Given the description of an element on the screen output the (x, y) to click on. 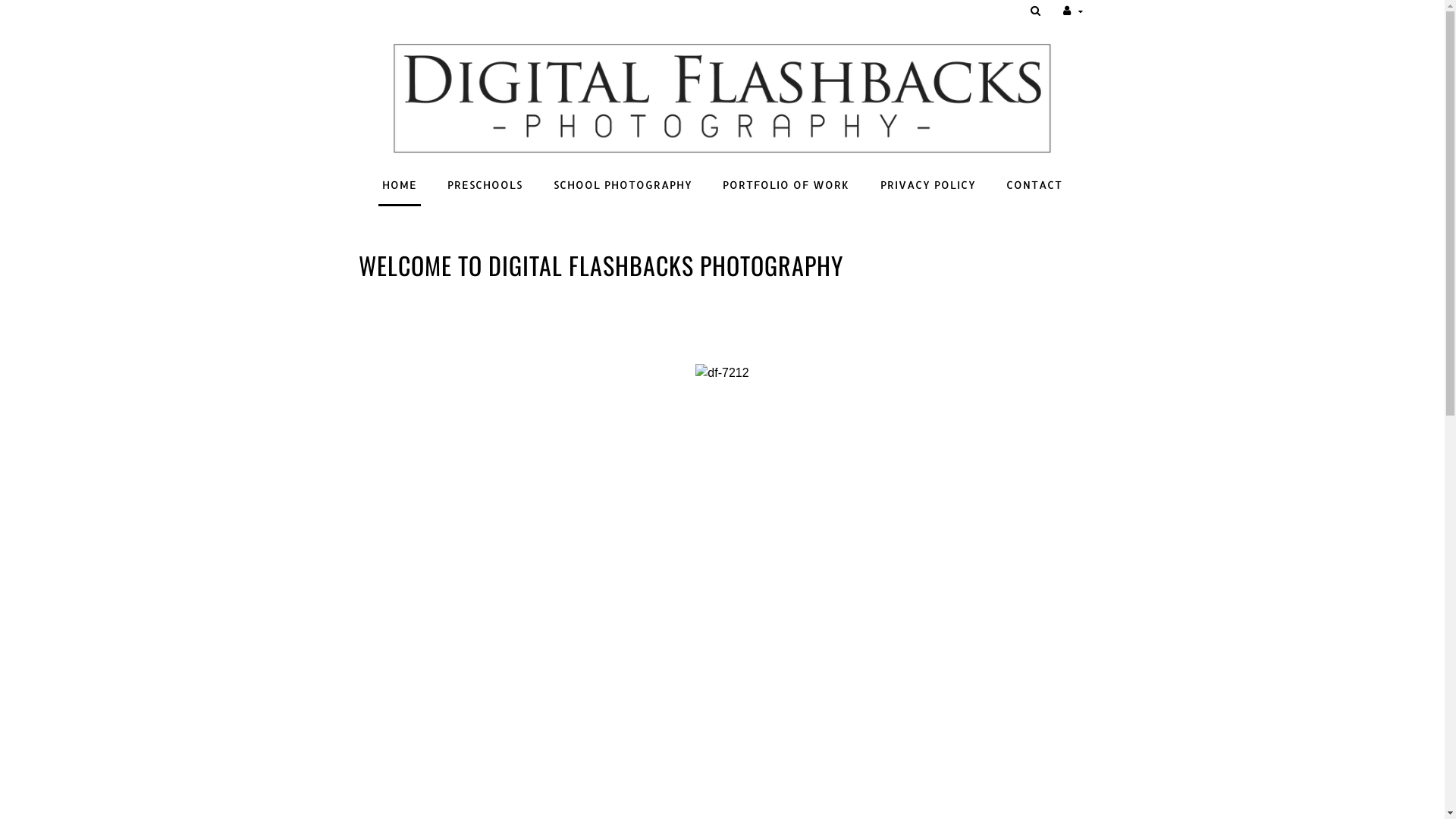
CONTACT Element type: text (1034, 185)
HOME Element type: text (399, 185)
SCHOOL PHOTOGRAPHY Element type: text (622, 185)
PRESCHOOLS Element type: text (484, 185)
PORTFOLIO OF WORK Element type: text (785, 185)
PRIVACY POLICY Element type: text (927, 185)
